Given the description of an element on the screen output the (x, y) to click on. 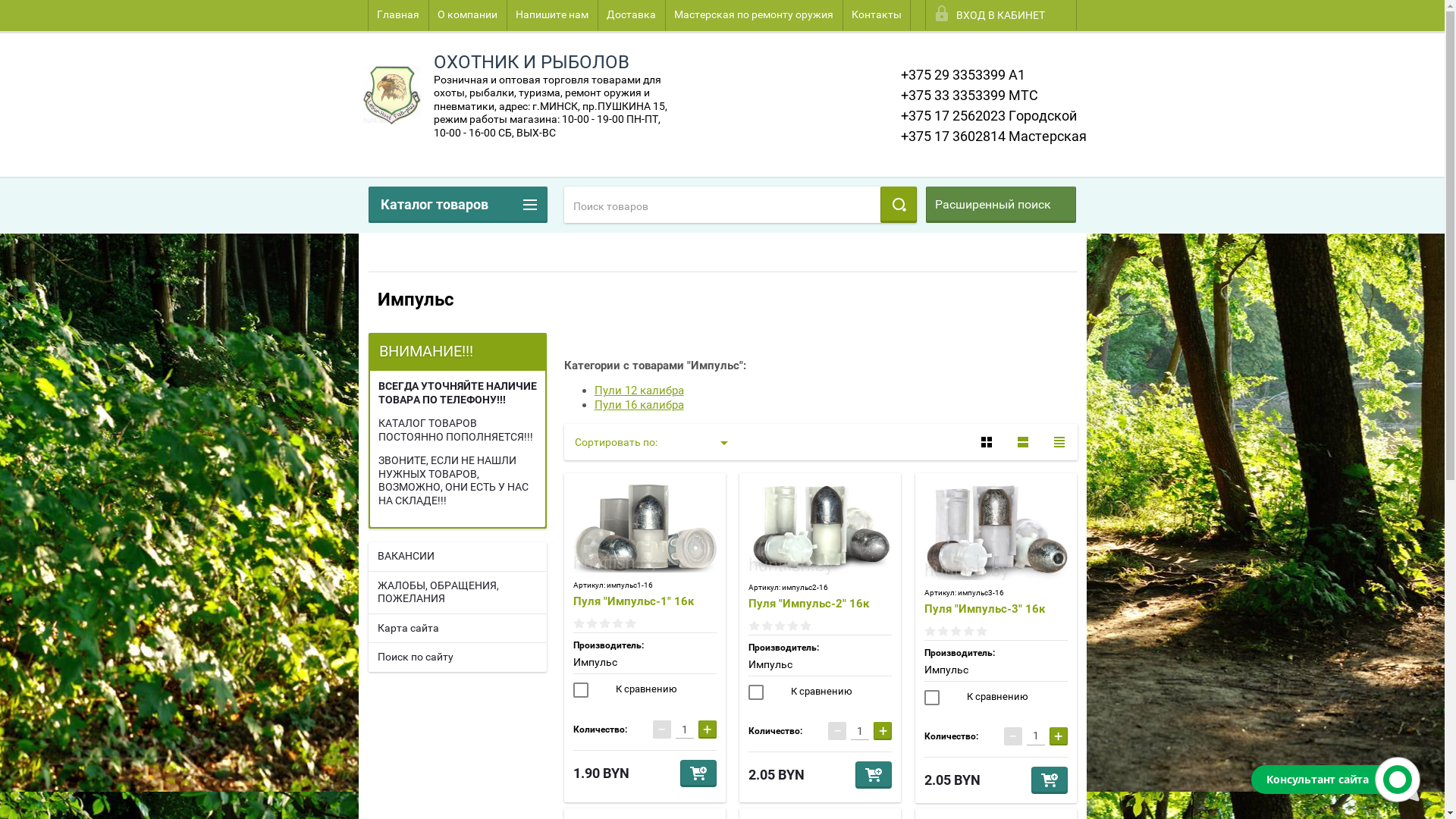
+ Element type: text (882, 730)
+ Element type: text (707, 729)
+ Element type: text (1058, 736)
+375 29 3353399 A1 Element type: text (962, 74)
